Given the description of an element on the screen output the (x, y) to click on. 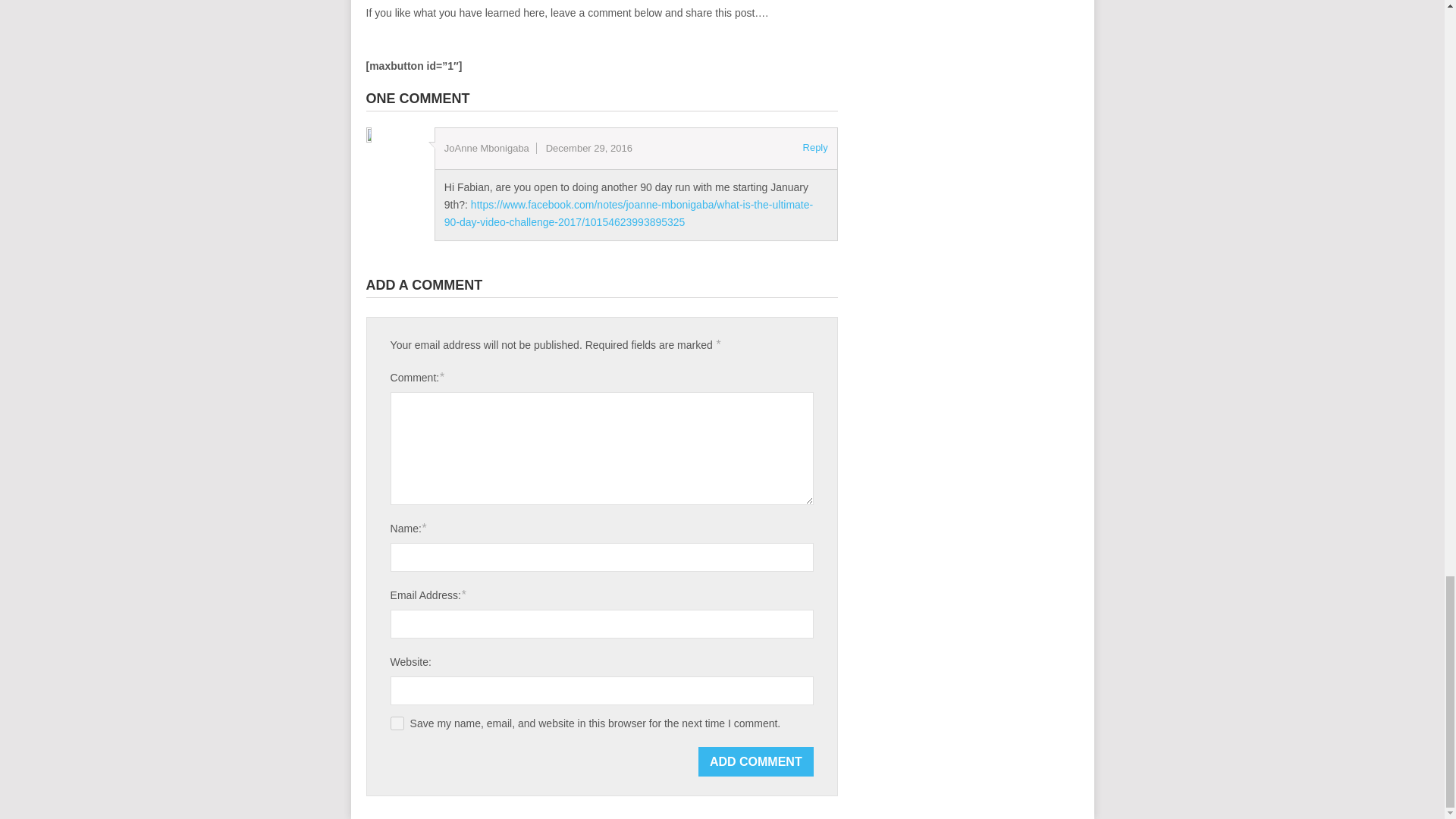
yes (397, 723)
Reply (815, 147)
Add Comment (755, 761)
Add Comment (755, 761)
